Given the description of an element on the screen output the (x, y) to click on. 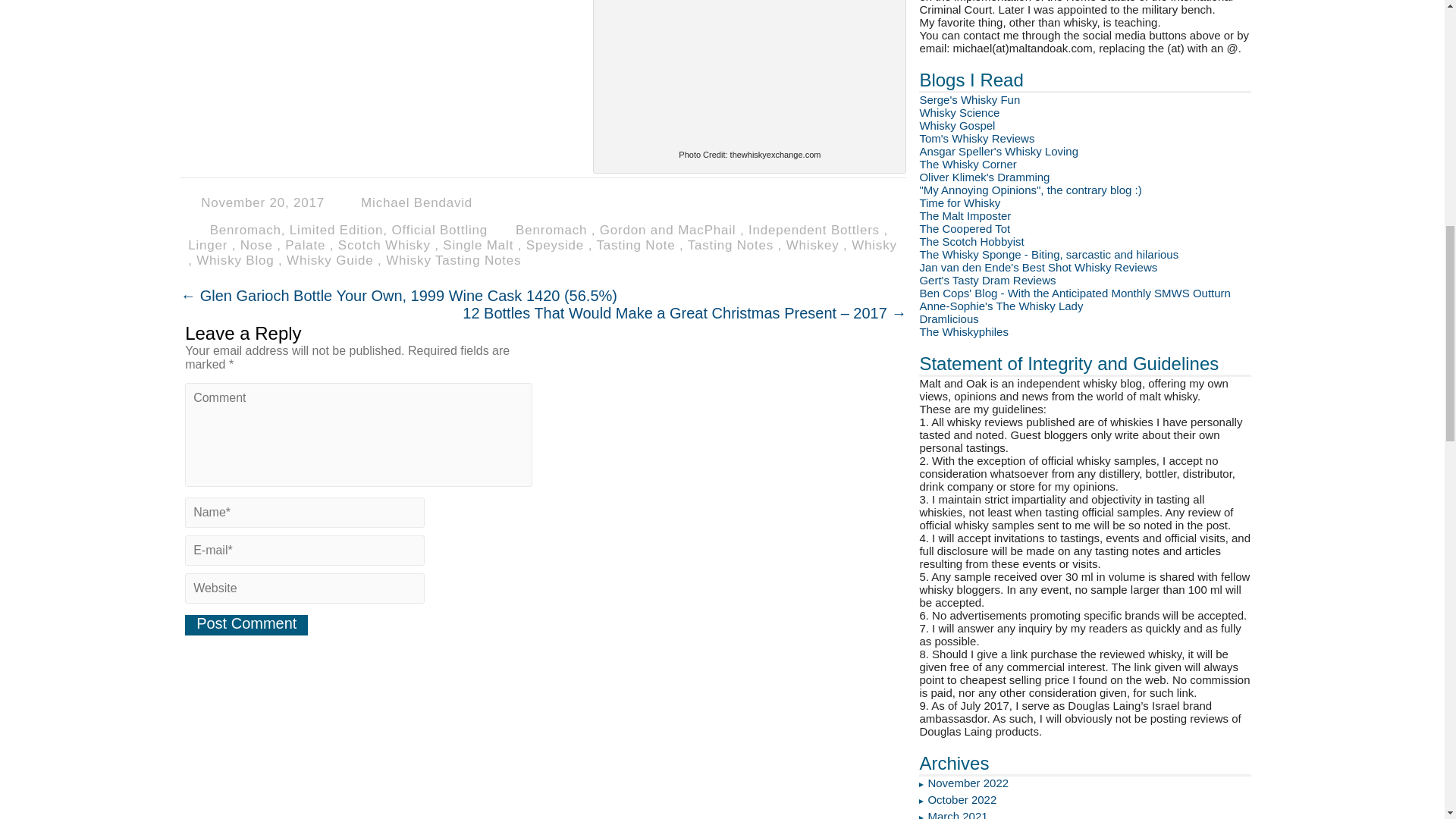
Post Comment (245, 624)
View all posts by Michael Bendavid (416, 202)
5:34 pm (265, 202)
